Given the description of an element on the screen output the (x, y) to click on. 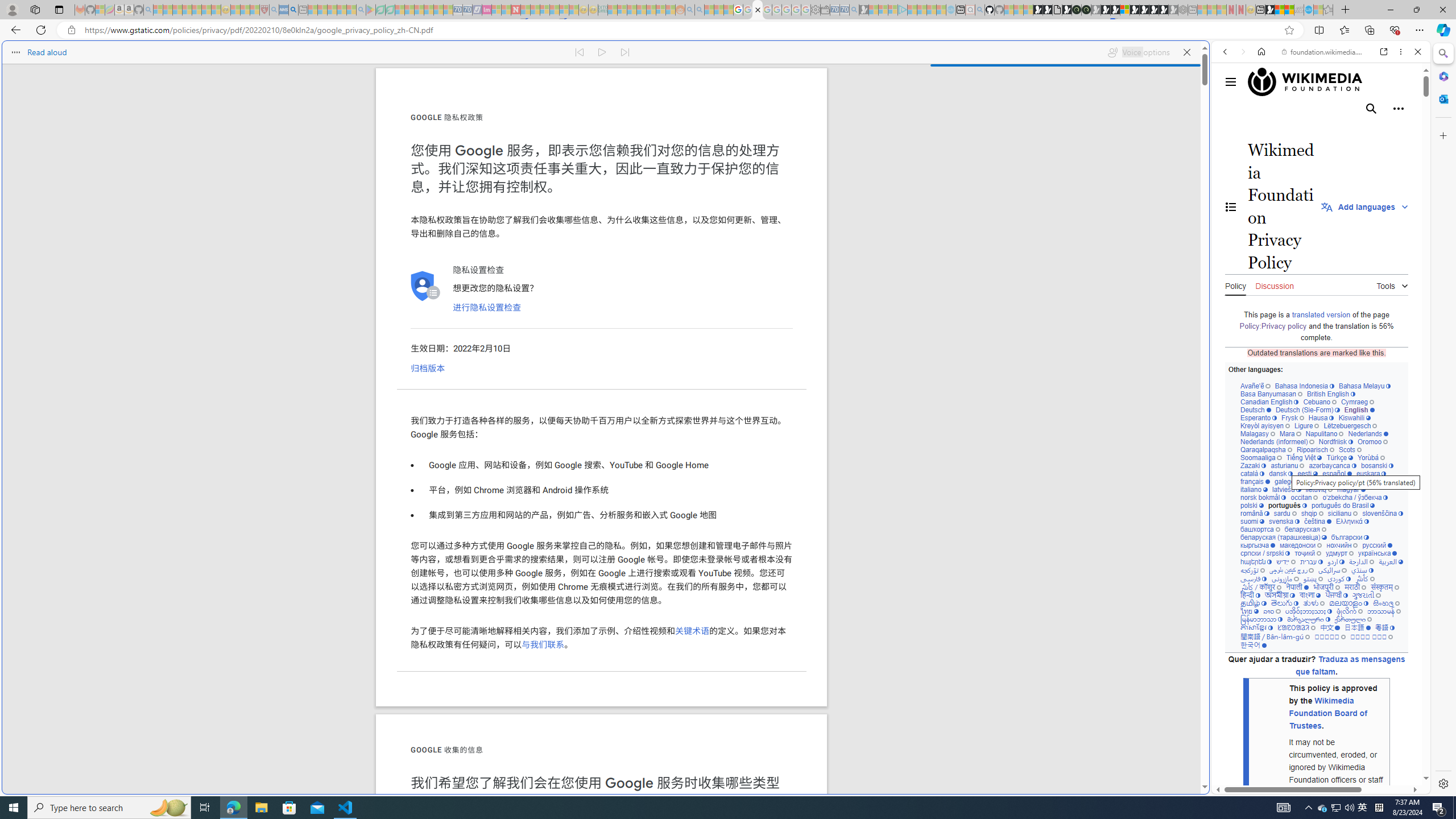
Future Focus Report 2024 (1085, 9)
Cebuano (1319, 401)
